Given the description of an element on the screen output the (x, y) to click on. 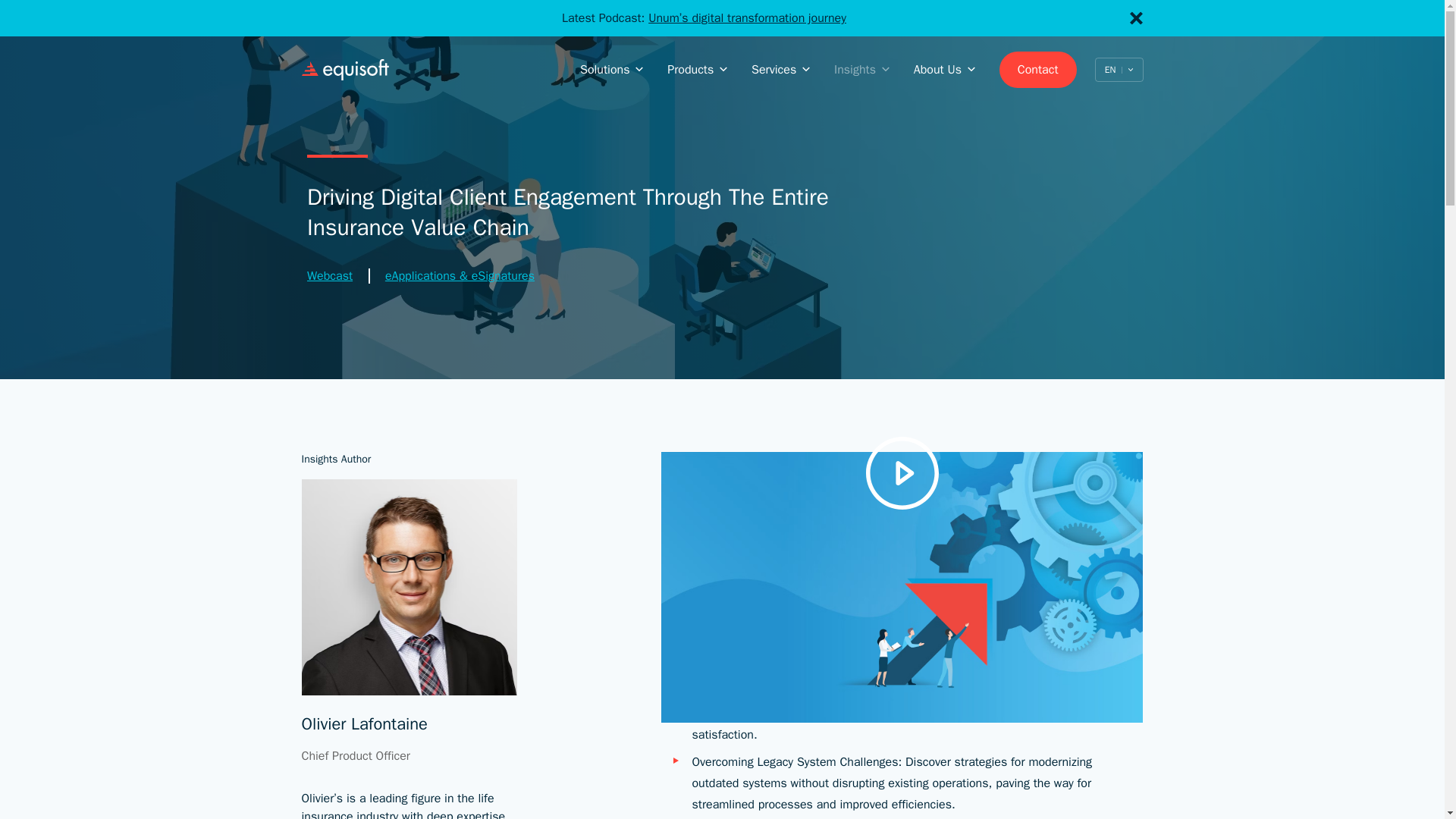
Solutions (611, 69)
Products (696, 69)
